Given the description of an element on the screen output the (x, y) to click on. 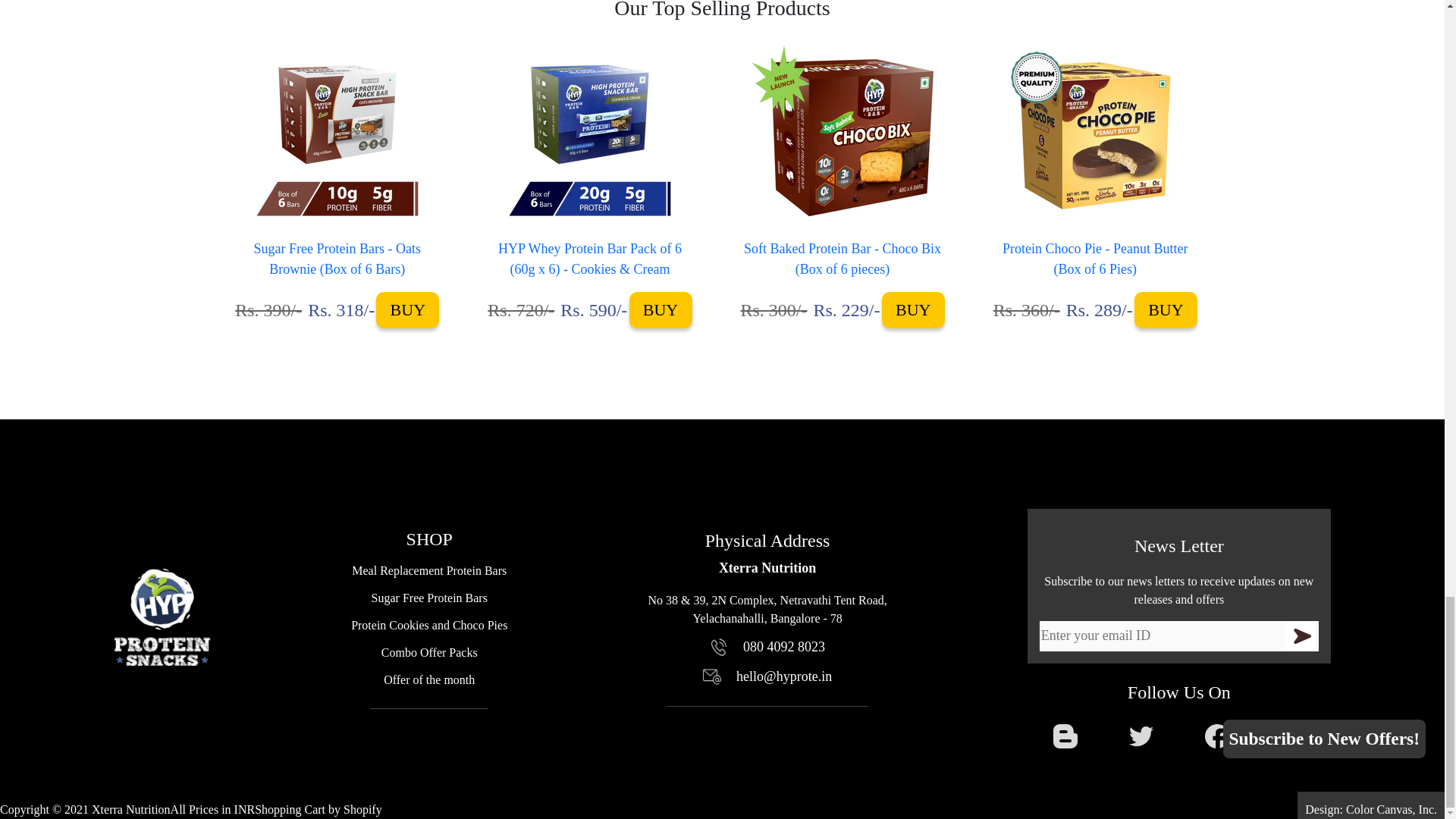
BUY (1165, 309)
BUY (407, 309)
BUY (660, 309)
BUY (913, 309)
Meal Replacement Protein Bars (429, 570)
